Given the description of an element on the screen output the (x, y) to click on. 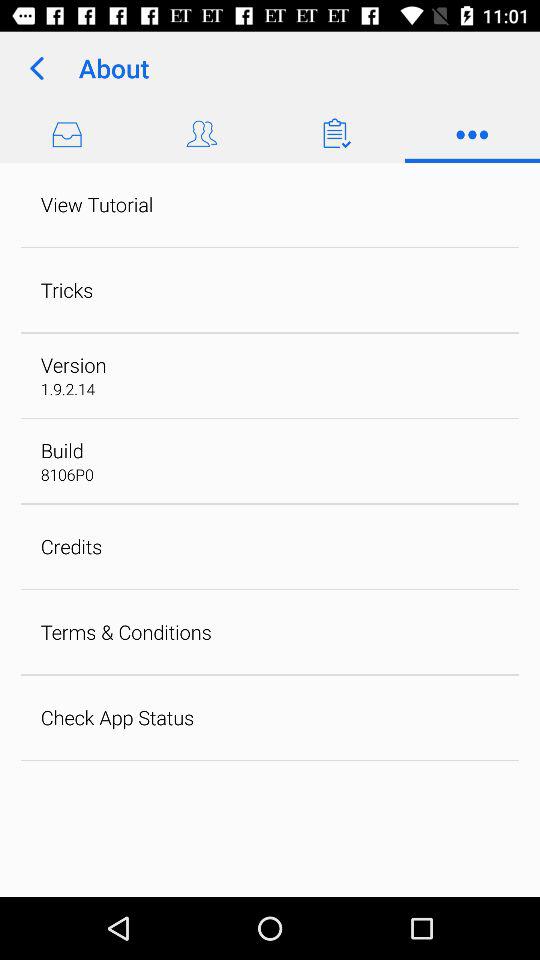
choose build item (61, 450)
